Given the description of an element on the screen output the (x, y) to click on. 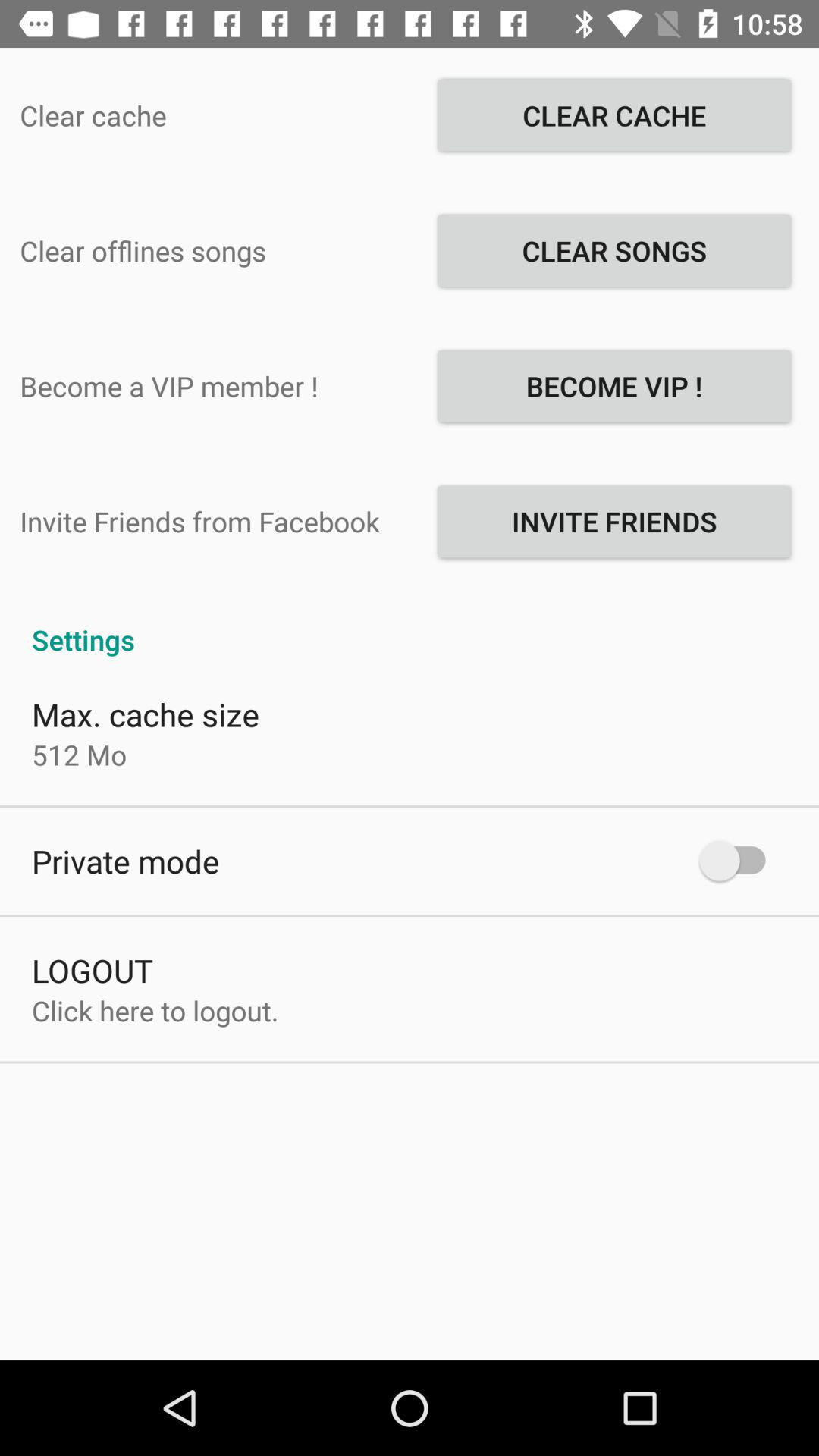
select the icon below the 512 mo item (125, 860)
